Given the description of an element on the screen output the (x, y) to click on. 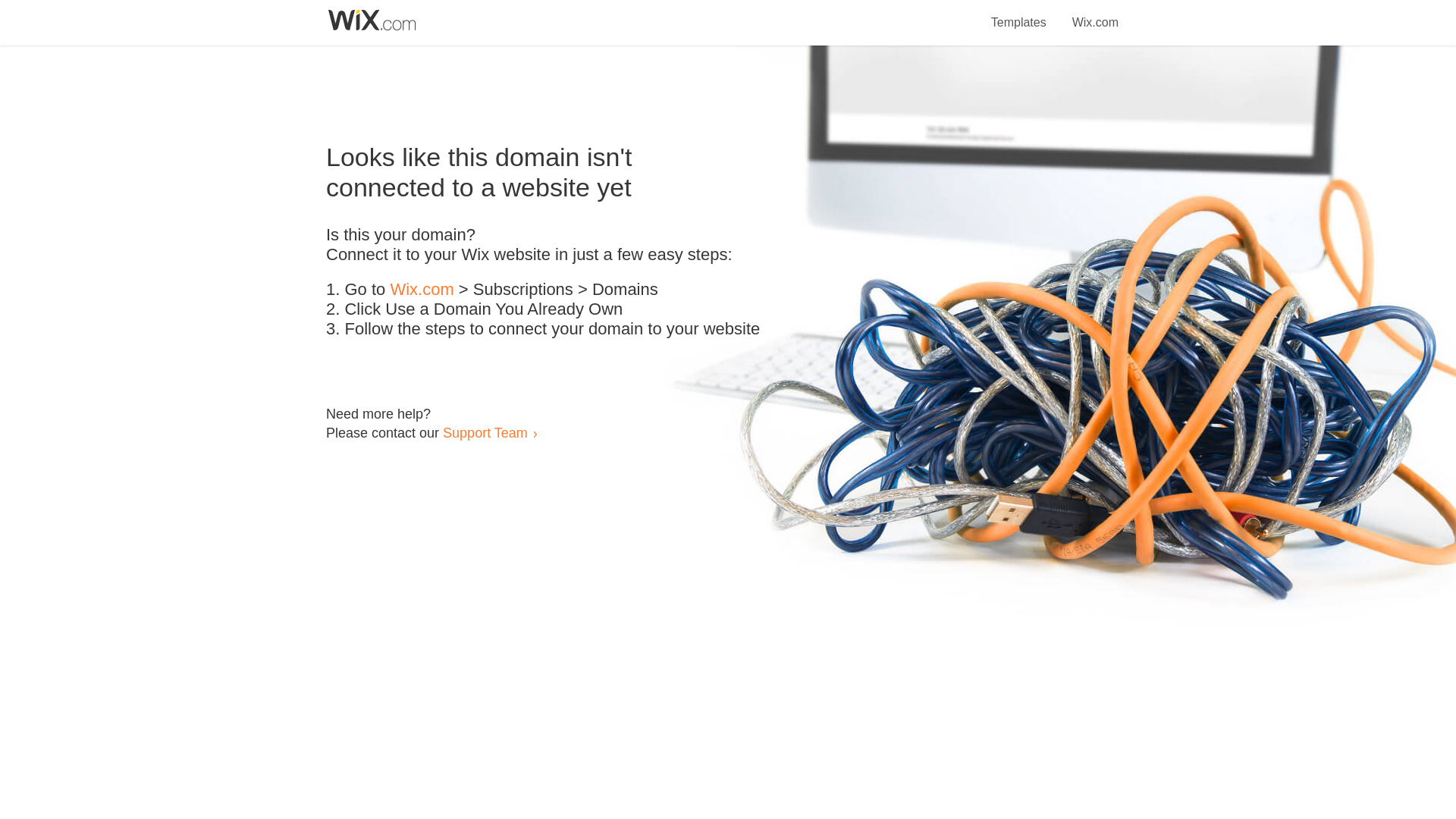
Wix.com (1095, 14)
Wix.com (421, 289)
Support Team (484, 432)
Templates (1018, 14)
